Given the description of an element on the screen output the (x, y) to click on. 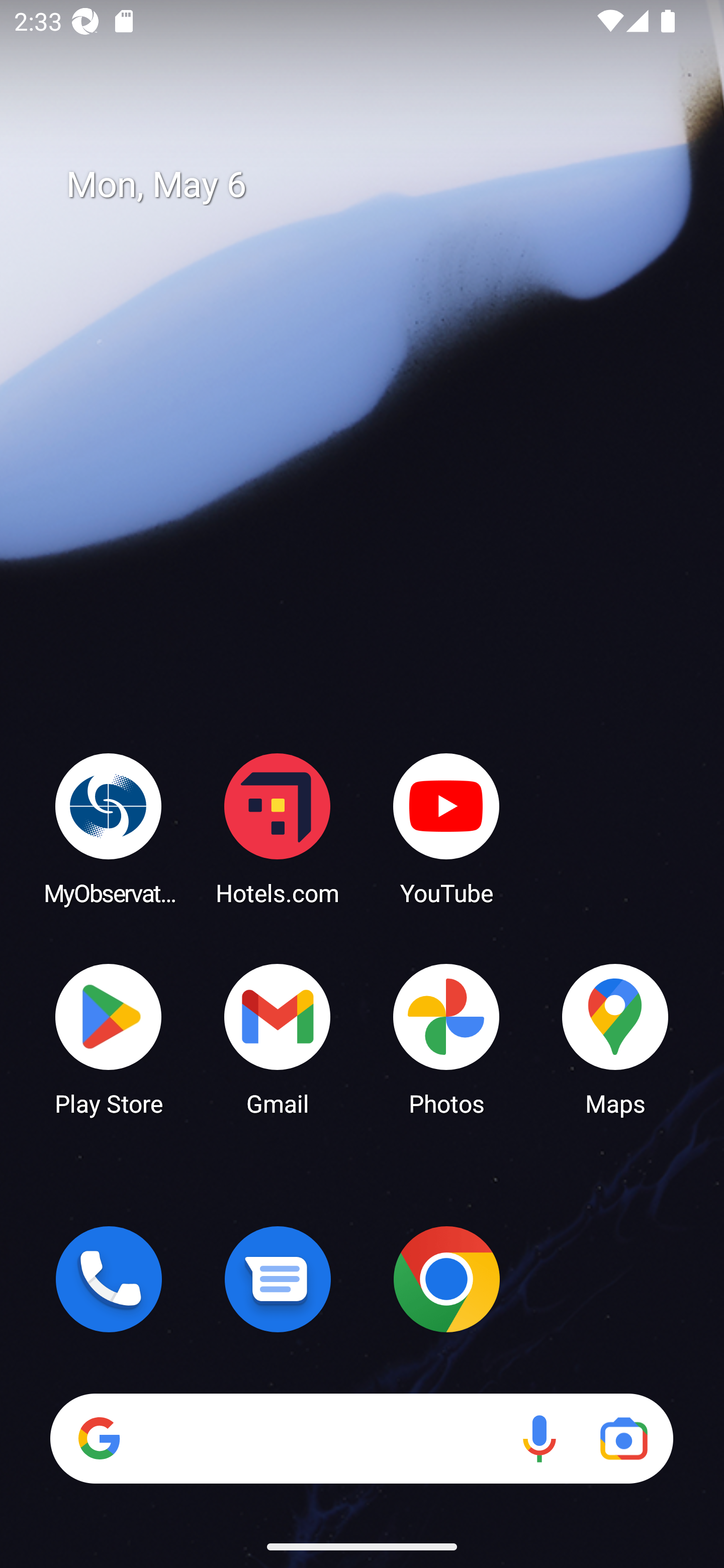
Mon, May 6 (375, 184)
MyObservatory (108, 828)
Hotels.com (277, 828)
YouTube (445, 828)
Play Store (108, 1038)
Gmail (277, 1038)
Photos (445, 1038)
Maps (615, 1038)
Phone (108, 1279)
Messages (277, 1279)
Chrome (446, 1279)
Search Voice search Google Lens (361, 1438)
Voice search (539, 1438)
Google Lens (623, 1438)
